Given the description of an element on the screen output the (x, y) to click on. 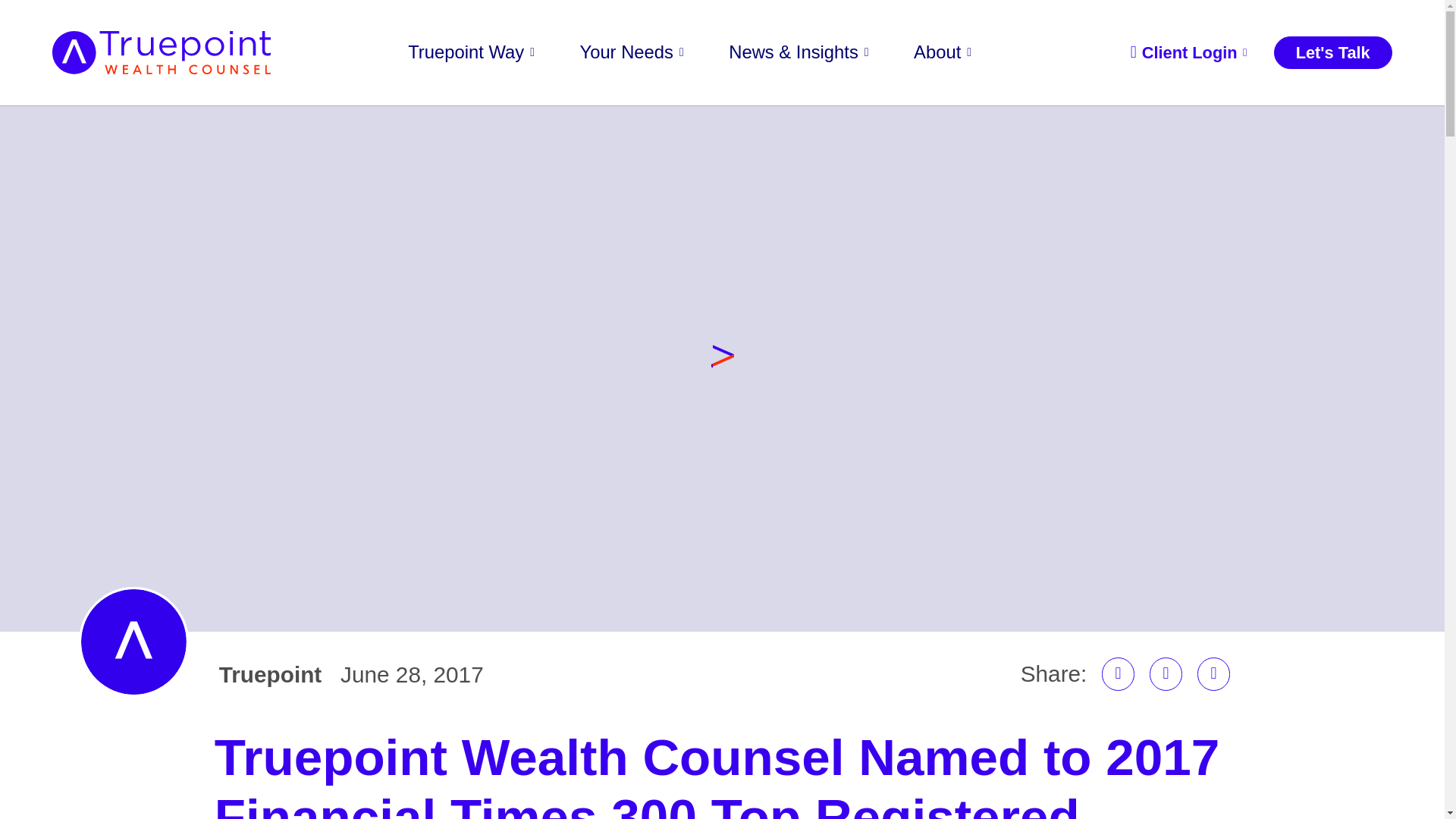
Twitter (1213, 674)
Let's Talk (1332, 52)
Twitter (1213, 674)
LinkedIn (1118, 674)
Your Needs (631, 52)
Facebook (1166, 674)
About (941, 52)
Truepoint (270, 674)
LinkedIn (1118, 674)
Facebook (1166, 674)
Truepoint Way (470, 52)
Client Login (1188, 52)
